Given the description of an element on the screen output the (x, y) to click on. 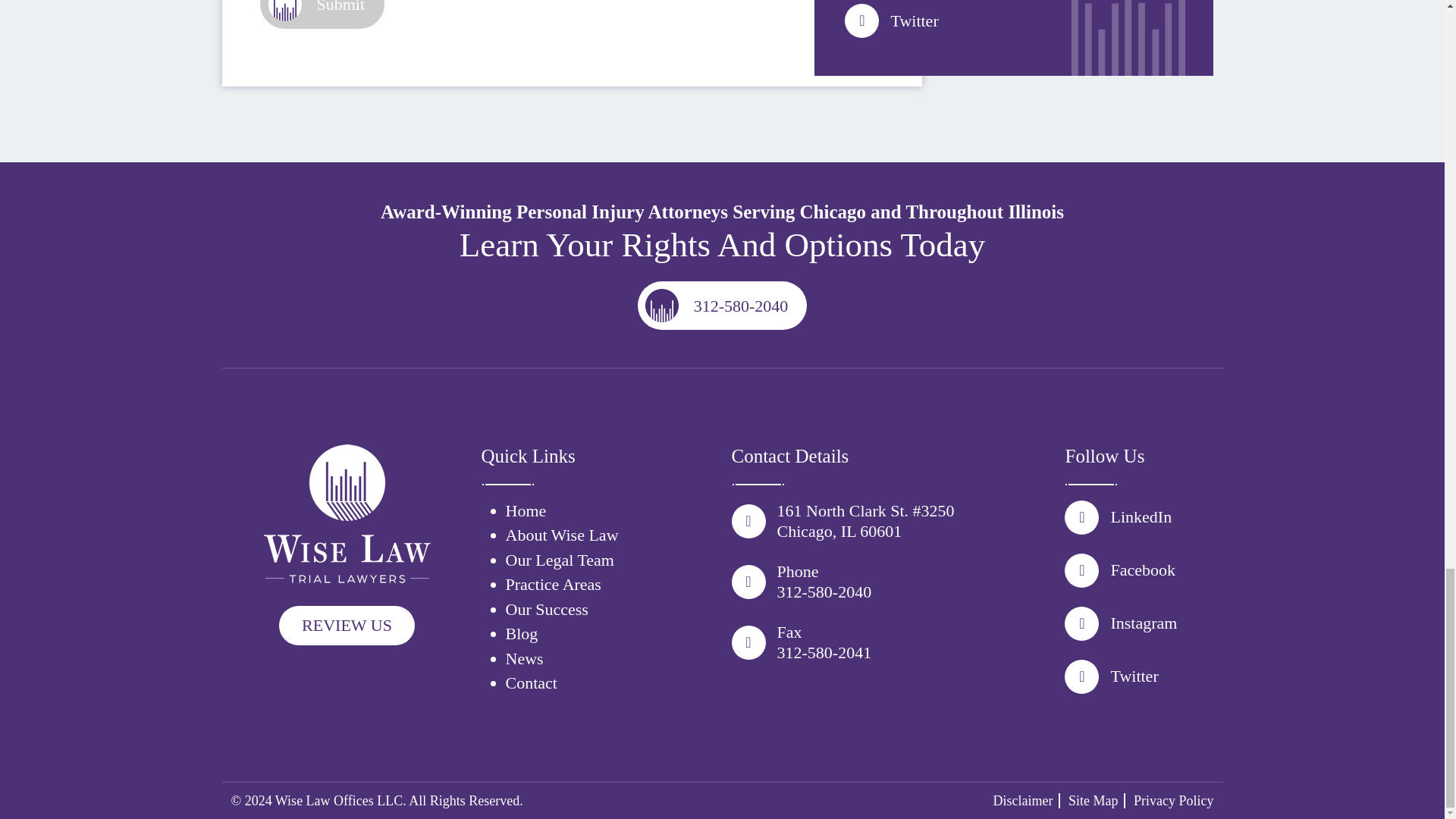
Submit (321, 14)
